Given the description of an element on the screen output the (x, y) to click on. 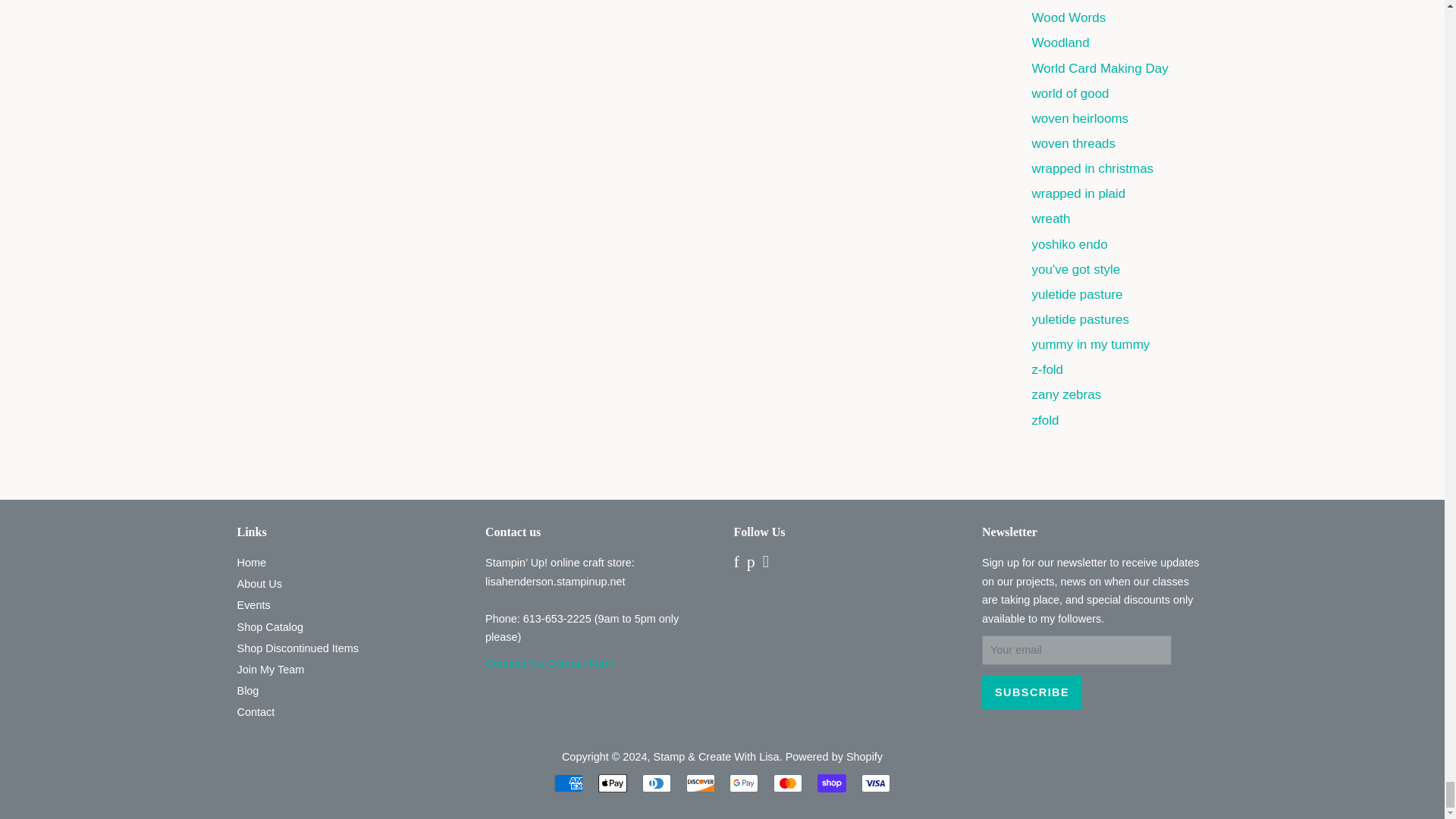
Shop Pay (830, 782)
Mastercard (787, 782)
Diners Club (656, 782)
Discover (699, 782)
Google Pay (743, 782)
American Express (568, 782)
Visa (875, 782)
Apple Pay (612, 782)
Subscribe (1031, 692)
